Given the description of an element on the screen output the (x, y) to click on. 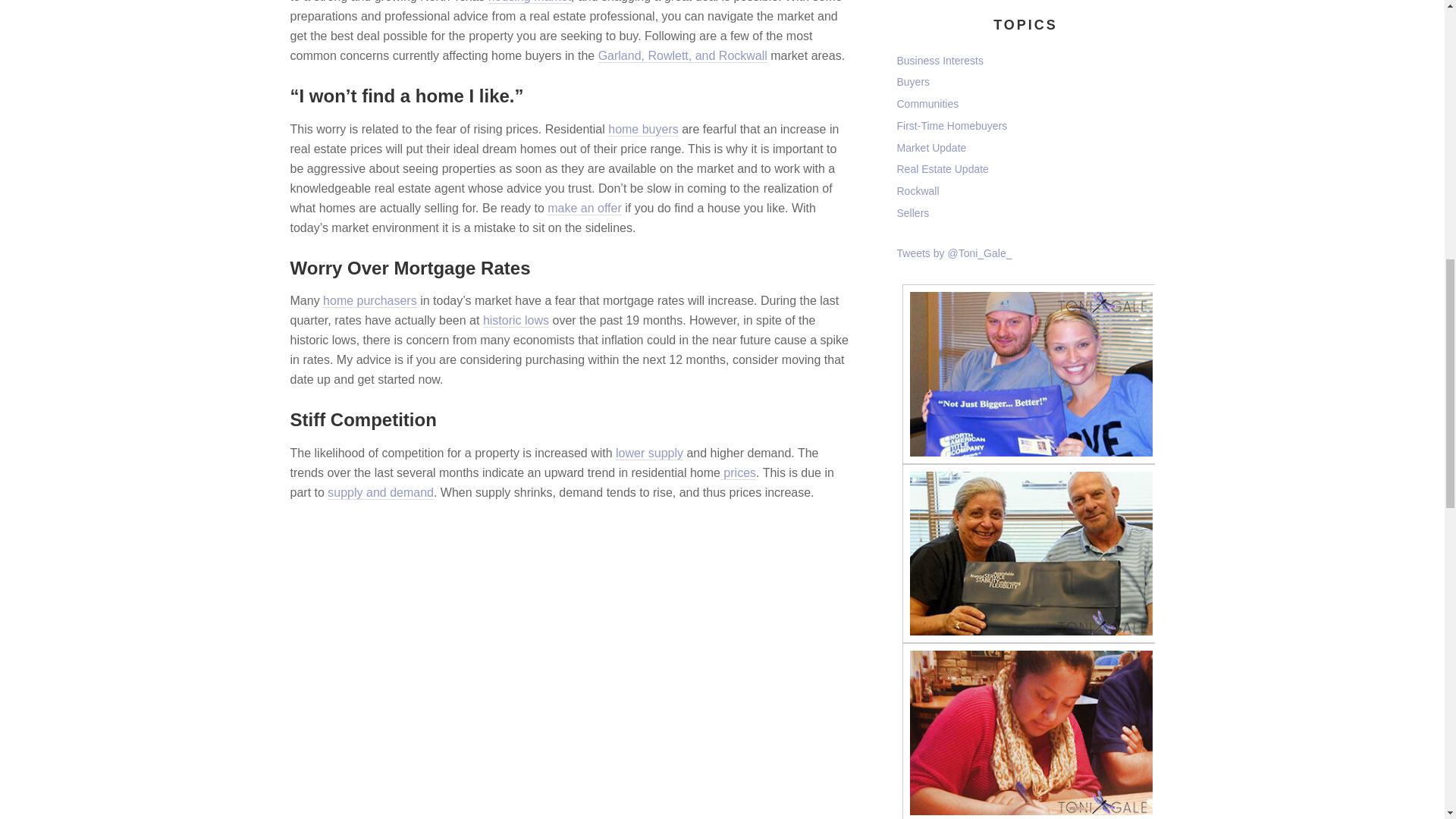
housing market (528, 2)
home buyers (643, 129)
lower supply (648, 453)
make an offer (584, 208)
Getting The Most Value from Your Realtor (643, 129)
historic lows (515, 320)
Do I Really Need A Real Estate Agent? (369, 300)
prices (737, 472)
What to Evaluate When Making A Purchase Offer (584, 208)
supply and demand (380, 492)
Garland, Rowlett, and Rockwall (682, 56)
home purchasers (369, 300)
